Given the description of an element on the screen output the (x, y) to click on. 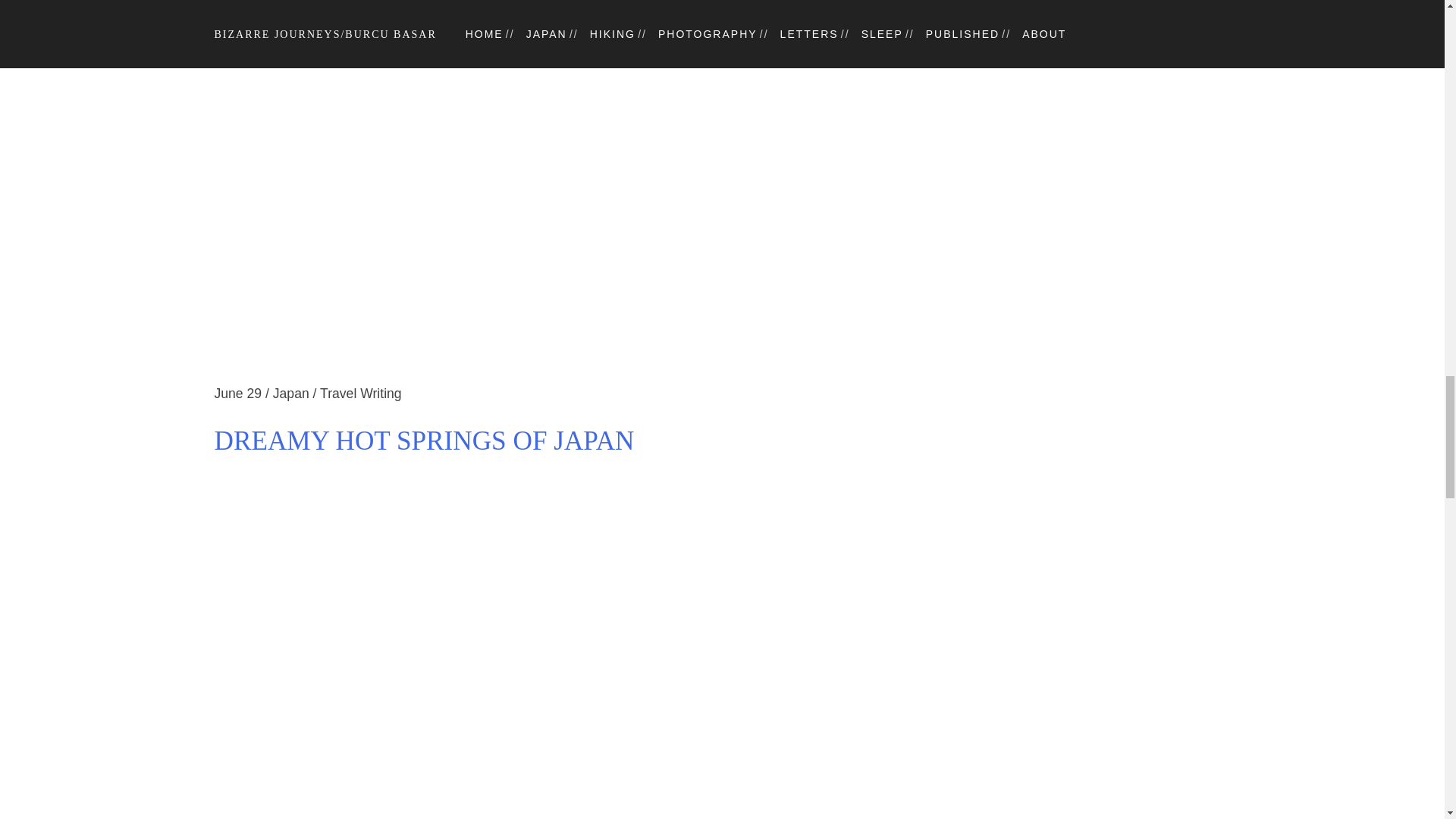
Dreamy Hot Springs of Japan (722, 441)
Dreamy Hot Springs of Japan (722, 372)
DREAMY HOT SPRINGS OF JAPAN (722, 441)
